Given the description of an element on the screen output the (x, y) to click on. 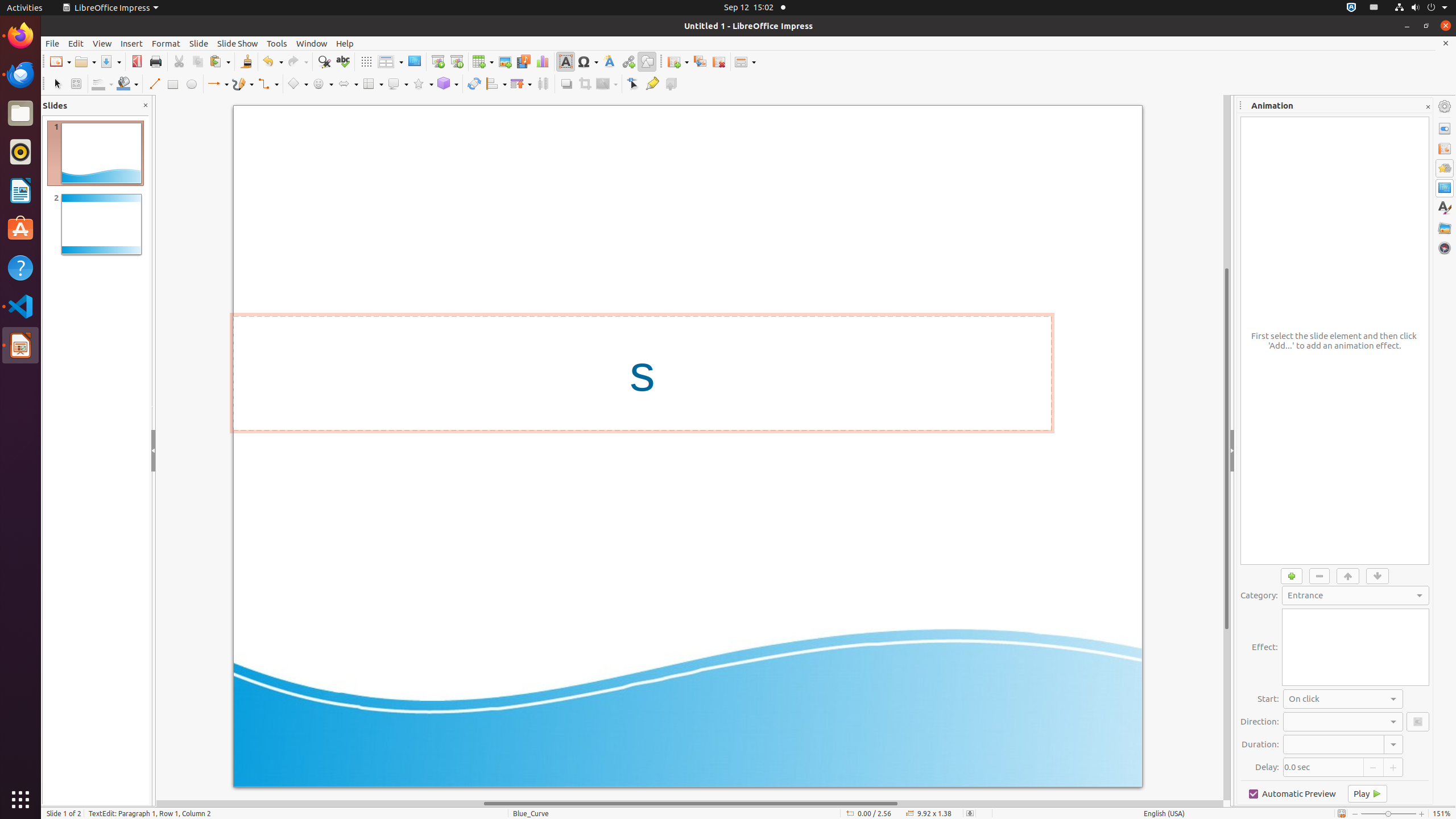
Image Element type: push-button (504, 61)
:1.72/StatusNotifierItem Element type: menu (1350, 7)
Curves and Polygons Element type: push-button (242, 83)
Paste Element type: push-button (219, 61)
Arrange Element type: push-button (520, 83)
